Given the description of an element on the screen output the (x, y) to click on. 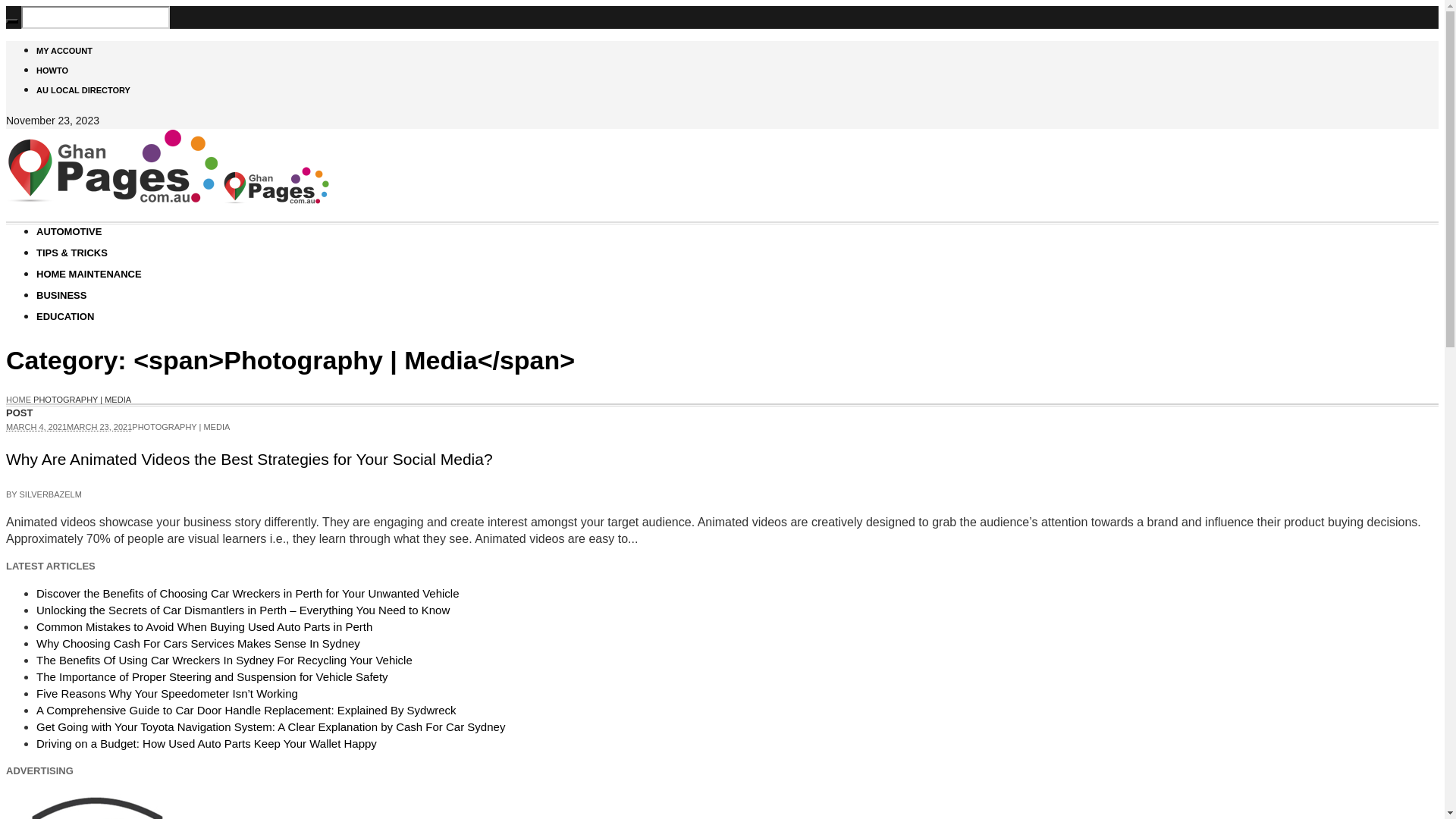
EDUCATION Element type: text (65, 316)
AU LOCAL DIRECTORY Element type: text (83, 89)
Why Choosing Cash For Cars Services Makes Sense In Sydney Element type: text (198, 643)
AUTOMOTIVE Element type: text (68, 231)
HOWTO Element type: text (52, 70)
BUSINESS Element type: text (61, 295)
HOME Element type: text (18, 399)
HOME MAINTENANCE Element type: text (88, 273)
MY ACCOUNT Element type: text (64, 50)
TIPS & TRICKS Element type: text (71, 252)
Latest Blog Element type: hover (167, 200)
SILVERBAZELM Element type: text (50, 493)
PHOTOGRAPHY | MEDIA Element type: text (180, 426)
